Given the description of an element on the screen output the (x, y) to click on. 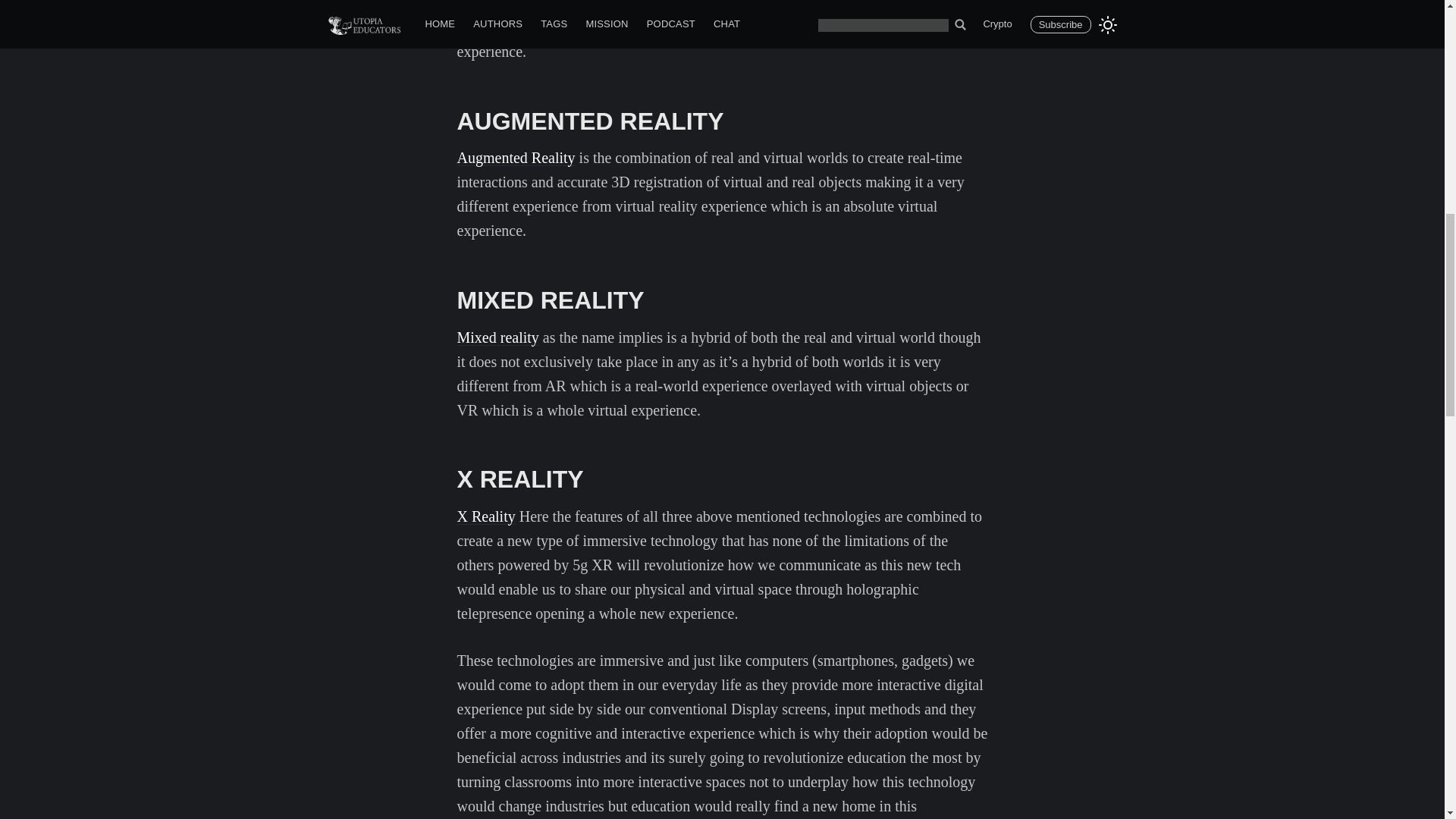
Augmented Reality (516, 157)
Mixed reality (497, 337)
X Reality (486, 515)
Virtual reality (499, 5)
